Given the description of an element on the screen output the (x, y) to click on. 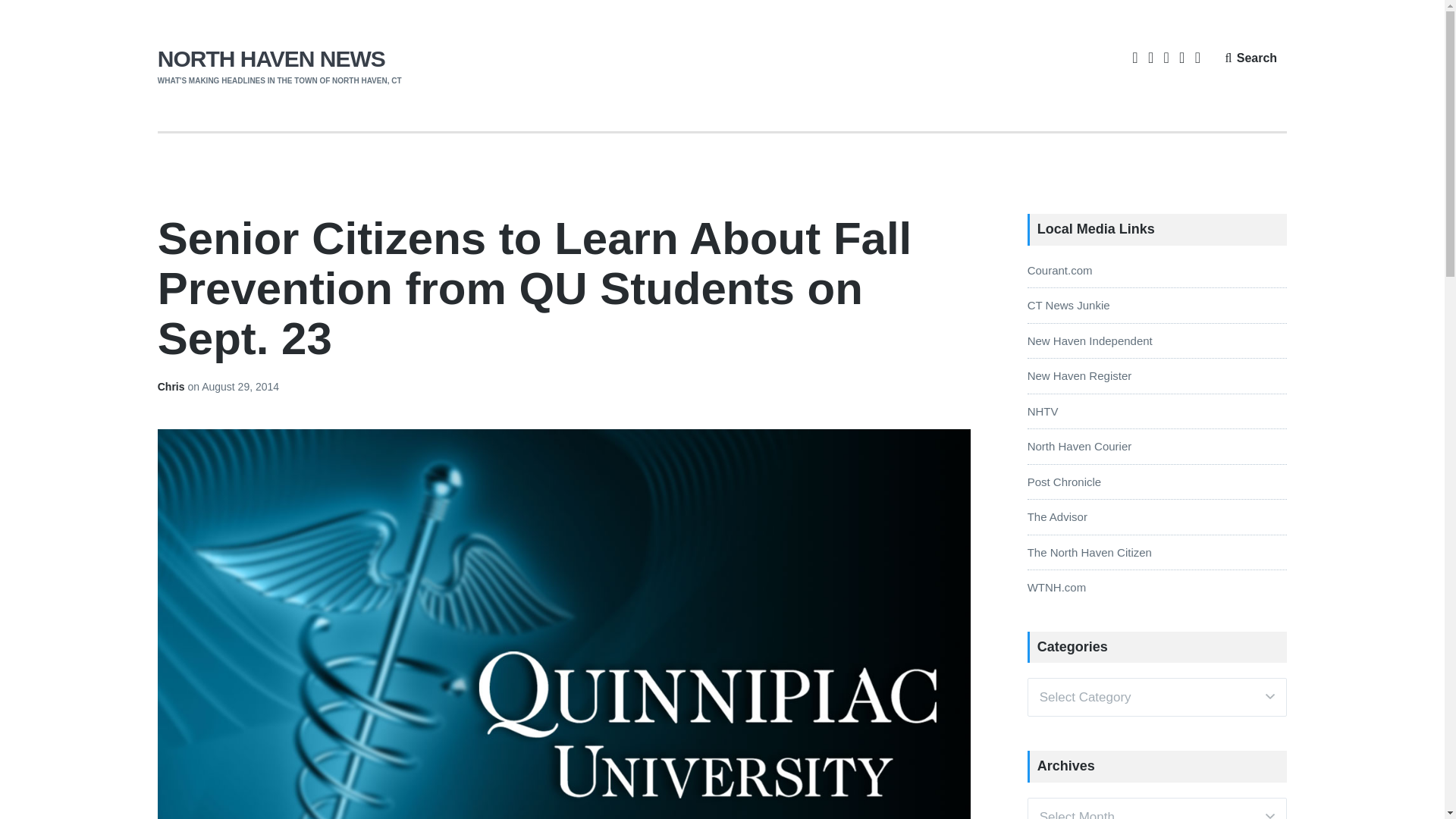
Post Chronicle (1064, 481)
NORTH HAVEN NEWS (271, 58)
Search (1250, 57)
The Advisor (1057, 516)
Chris (172, 386)
